Given the description of an element on the screen output the (x, y) to click on. 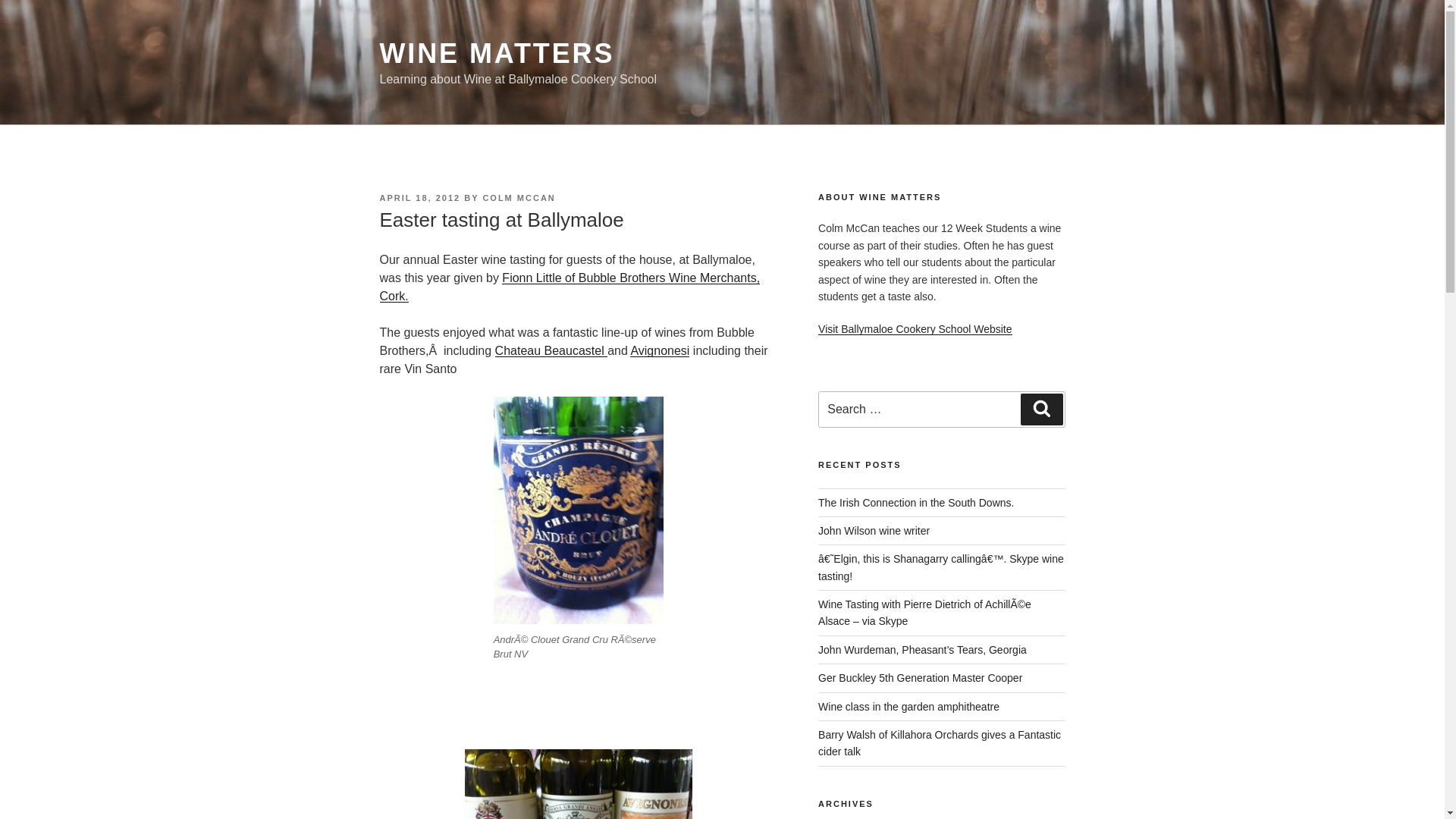
COLM MCCAN (517, 197)
Wine class in the garden amphitheatre (908, 706)
Avignonesi line-up of red wines (578, 784)
The Irish Connection in the South Downs. (915, 501)
John Wilson wine writer (874, 530)
Ger Buckley 5th Generation Master Cooper (920, 677)
Avignonesi (659, 350)
Fionn Little of Bubble Brothers Wine Merchants, Cork. (569, 286)
Chateau Beaucastel (551, 350)
